Given the description of an element on the screen output the (x, y) to click on. 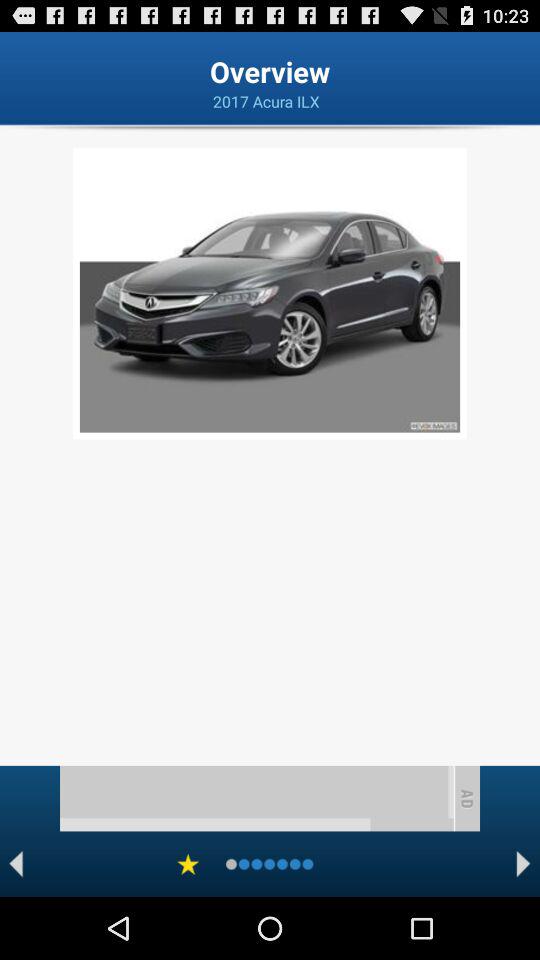
rating (188, 864)
